Given the description of an element on the screen output the (x, y) to click on. 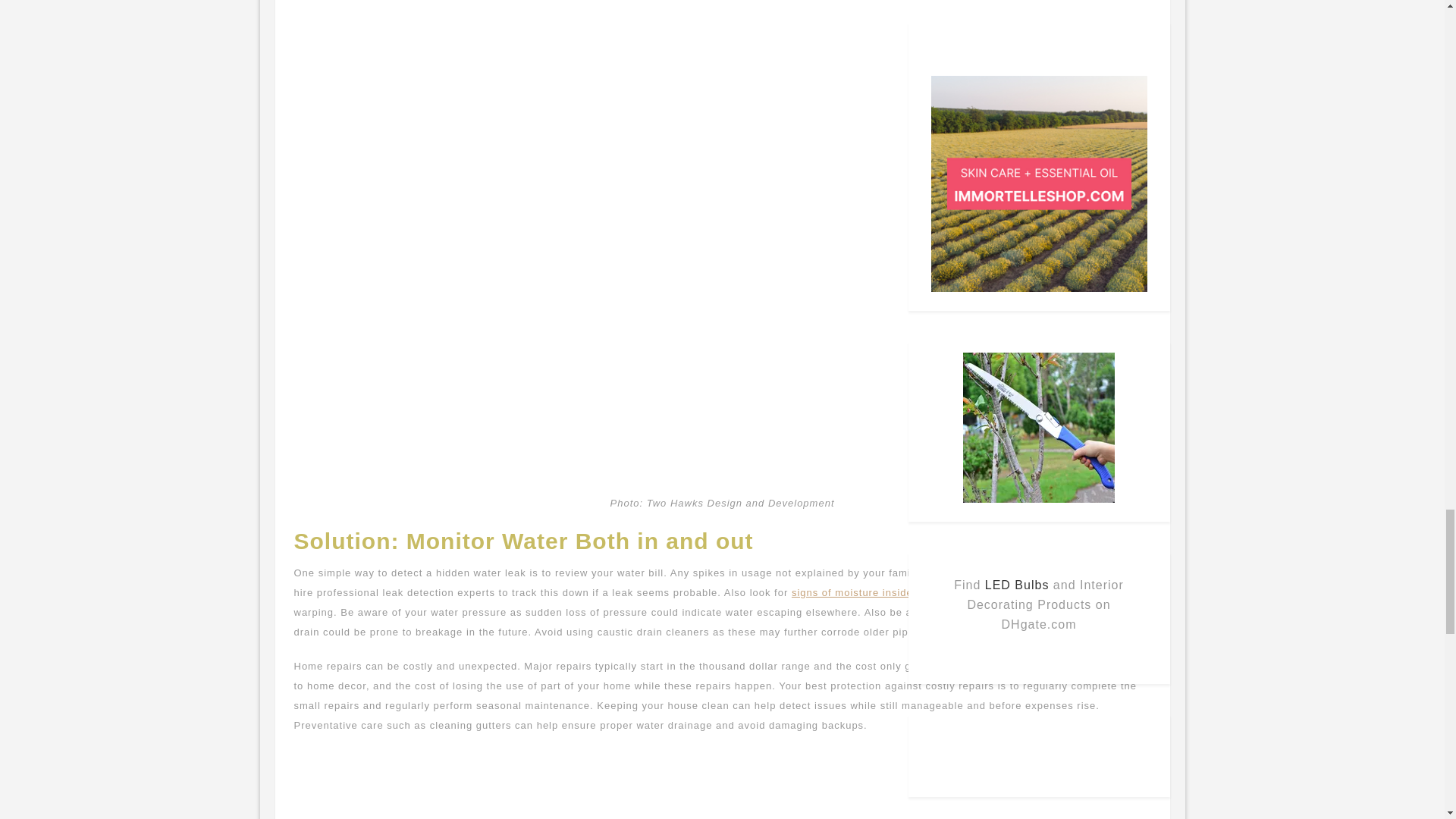
signs of moisture inside (852, 592)
